Given the description of an element on the screen output the (x, y) to click on. 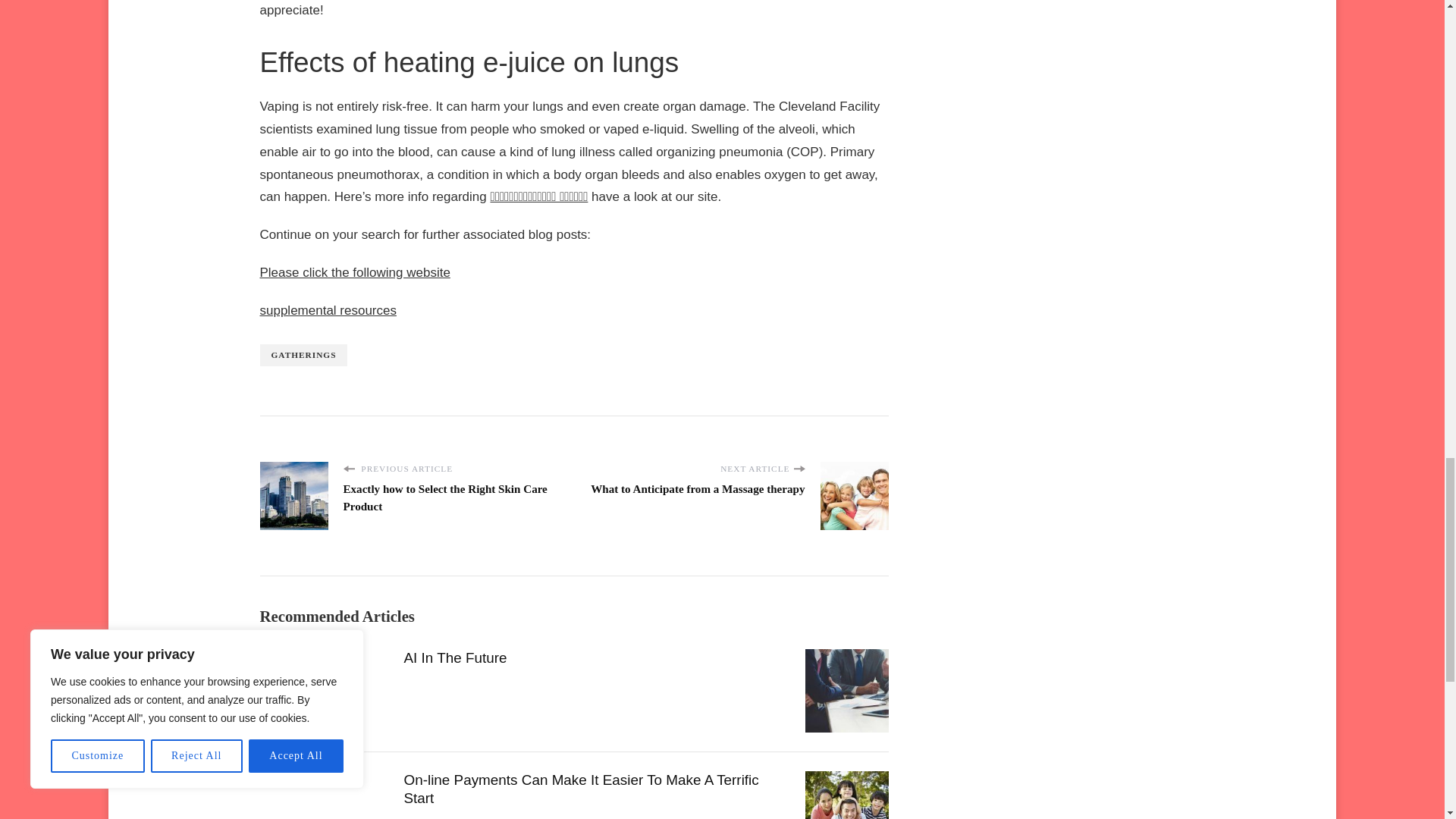
supplemental resources (327, 310)
GATHERINGS (303, 354)
AI In The Future (454, 657)
GENERAL (283, 655)
Please click the following website (354, 272)
